Given the description of an element on the screen output the (x, y) to click on. 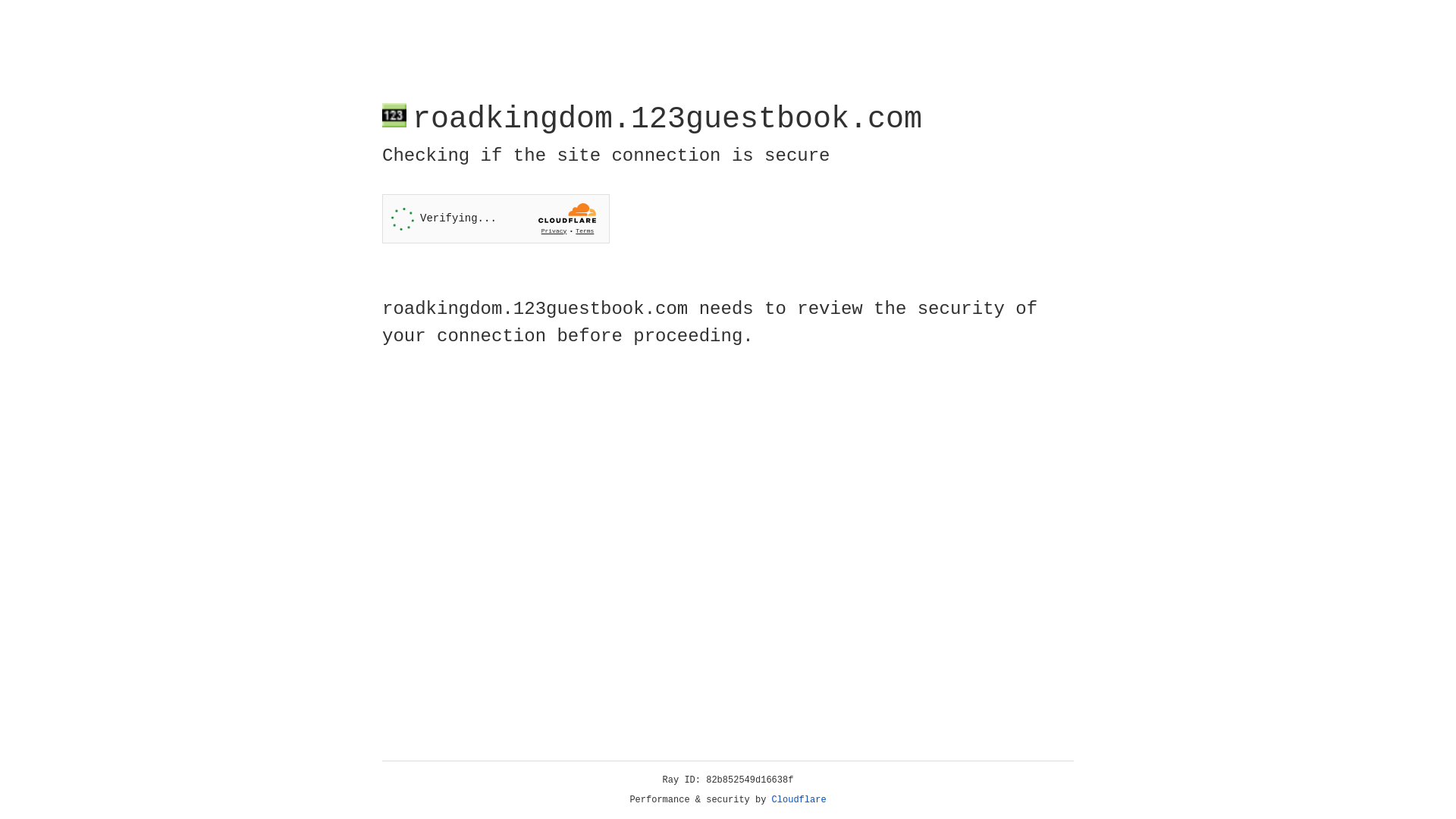
Widget containing a Cloudflare security challenge Element type: hover (495, 218)
Cloudflare Element type: text (798, 799)
